Given the description of an element on the screen output the (x, y) to click on. 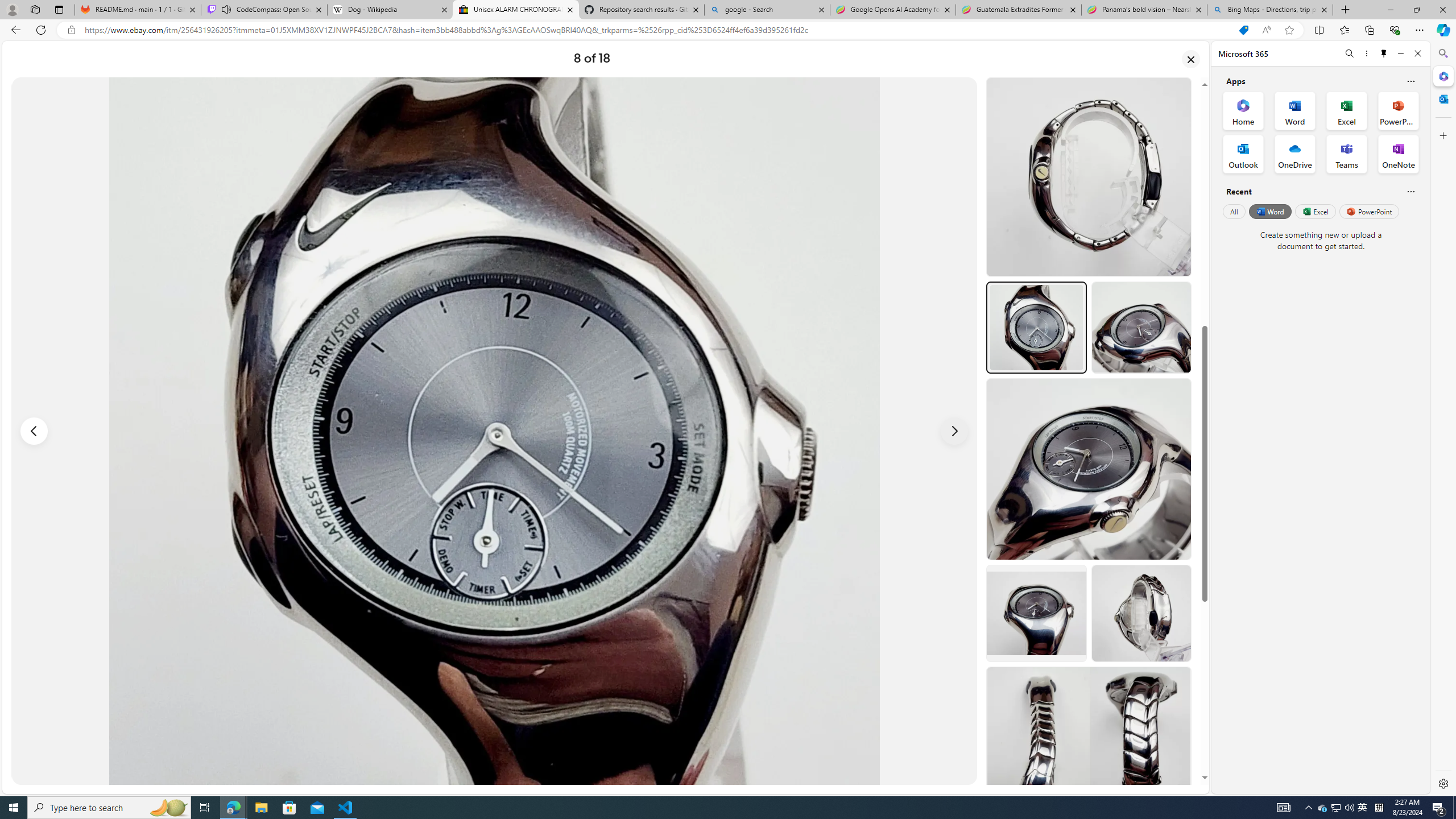
OneNote Office App (1398, 154)
Dog - Wikipedia (389, 9)
You have the best price! Shopping in Microsoft Edge (1243, 29)
Google Opens AI Academy for Startups - Nearshore Americas (892, 9)
Picture 8 of 18 (493, 430)
Close image gallery dialog (1190, 58)
